Given the description of an element on the screen output the (x, y) to click on. 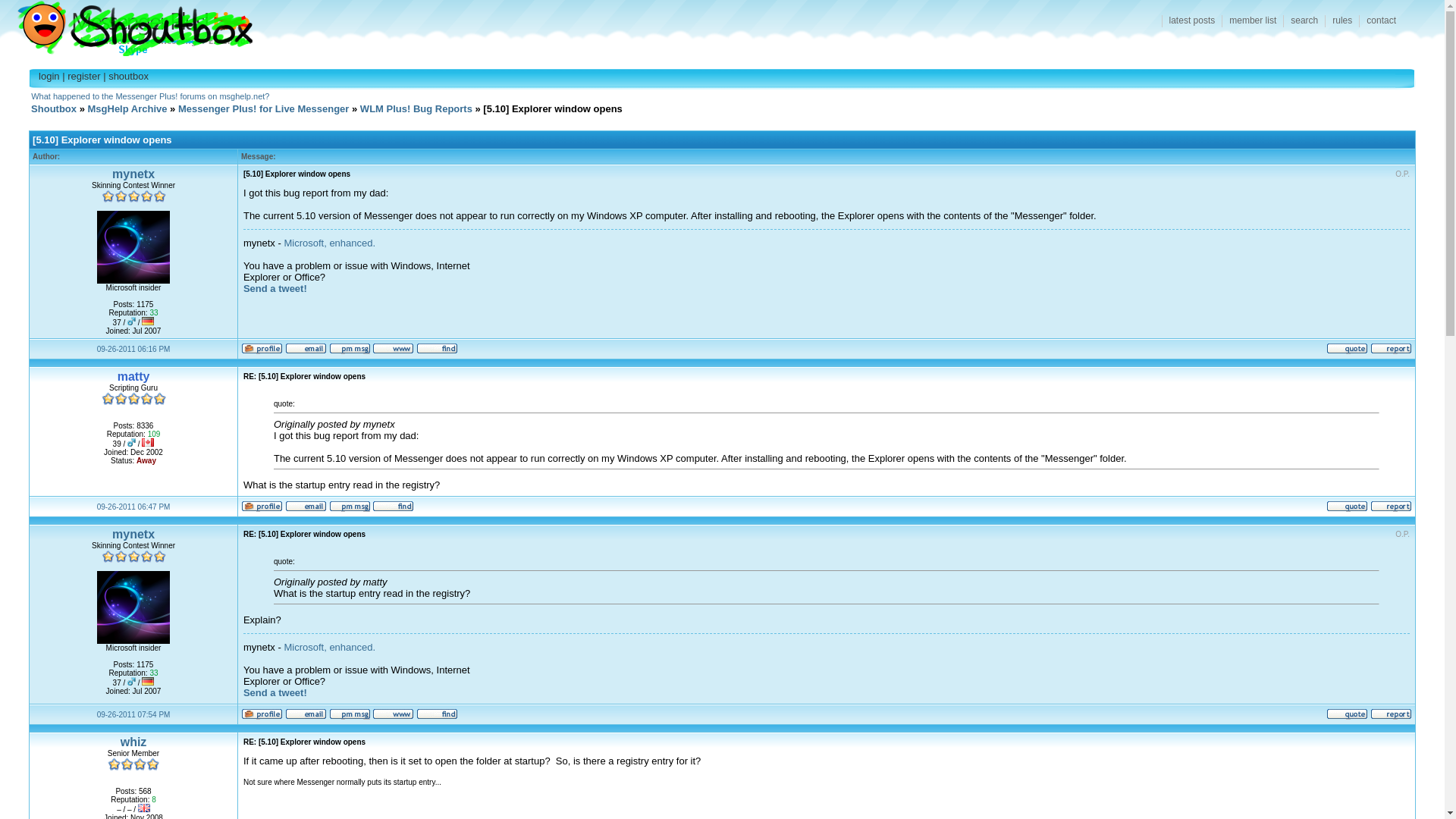
Report this post to the forum Moderators (1391, 351)
Report this post to the forum Moderators (1391, 509)
Messenger Plus! for Live Messenger (263, 108)
search (1303, 21)
shoutbox (127, 75)
Shoutbox (125, 24)
rules (1341, 21)
login (49, 75)
matty (133, 376)
latest posts (1192, 21)
09-26-2011 06:16 PM (133, 347)
mynetx (133, 533)
09-26-2011 06:47 PM (133, 506)
WLM Plus! Bug Reports (415, 108)
MsgHelp Archive (127, 108)
